Given the description of an element on the screen output the (x, y) to click on. 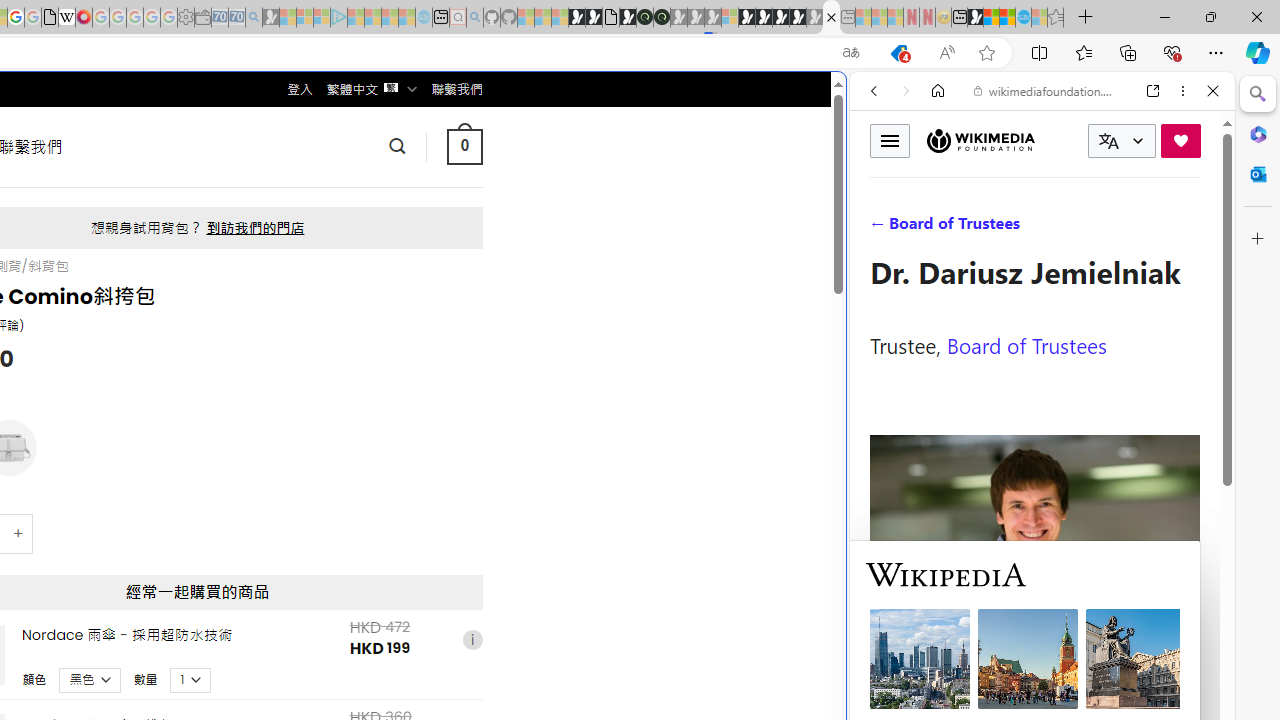
Wikimedia Foundation (980, 140)
wikimediafoundation.org (1045, 90)
MediaWiki (83, 17)
